Given the description of an element on the screen output the (x, y) to click on. 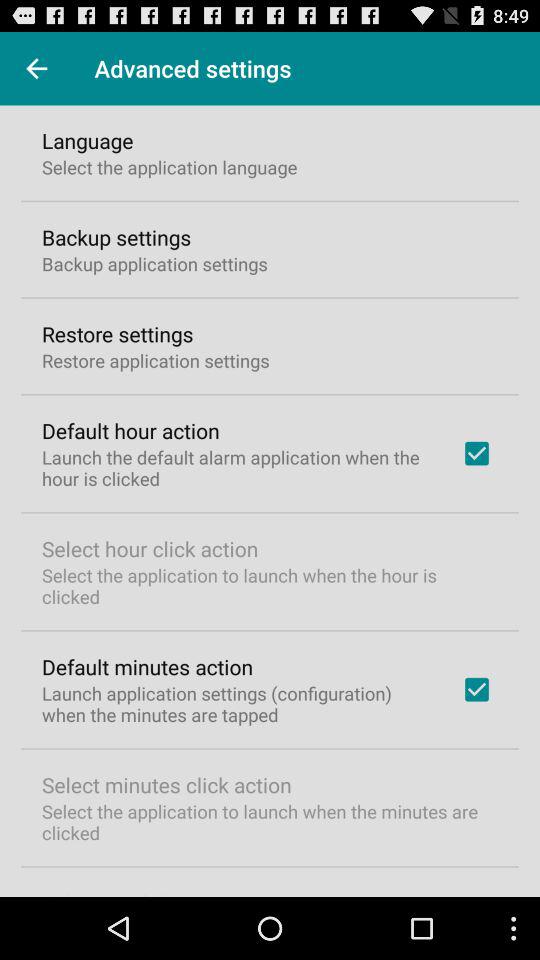
go back (36, 68)
